Given the description of an element on the screen output the (x, y) to click on. 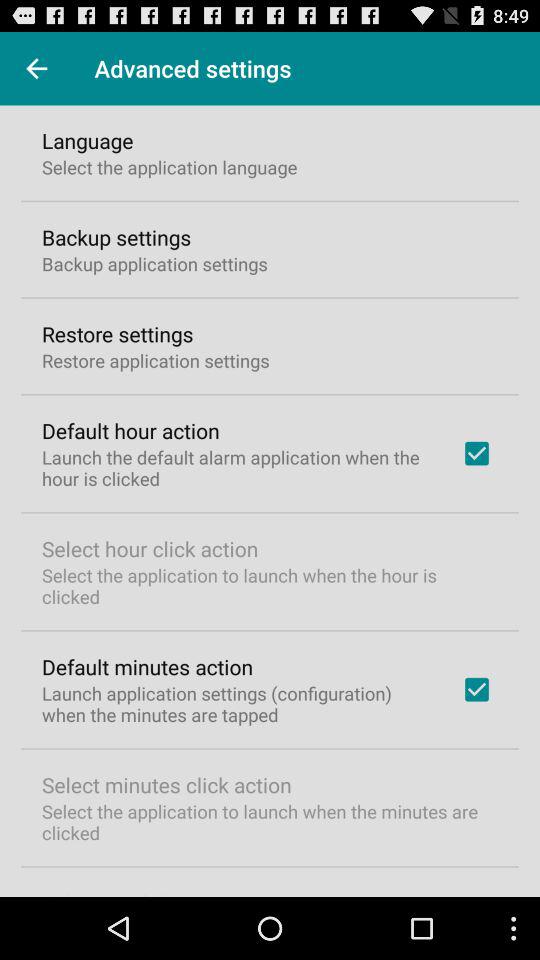
go back (36, 68)
